Given the description of an element on the screen output the (x, y) to click on. 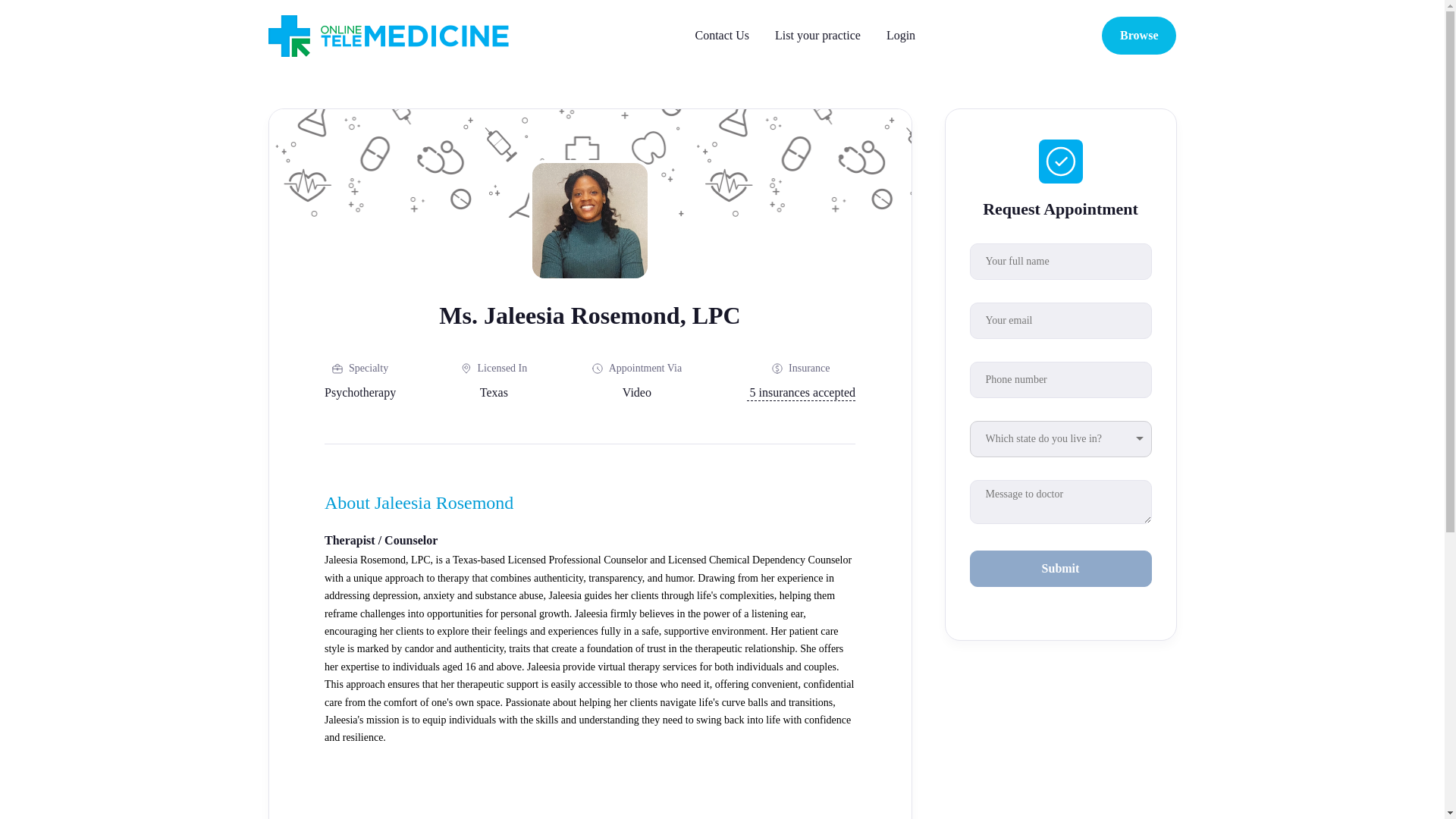
Browse (1139, 35)
Contact Us (721, 35)
Submit (1060, 568)
List your practice (817, 35)
 5 insurances accepted (799, 392)
Login (900, 35)
